Given the description of an element on the screen output the (x, y) to click on. 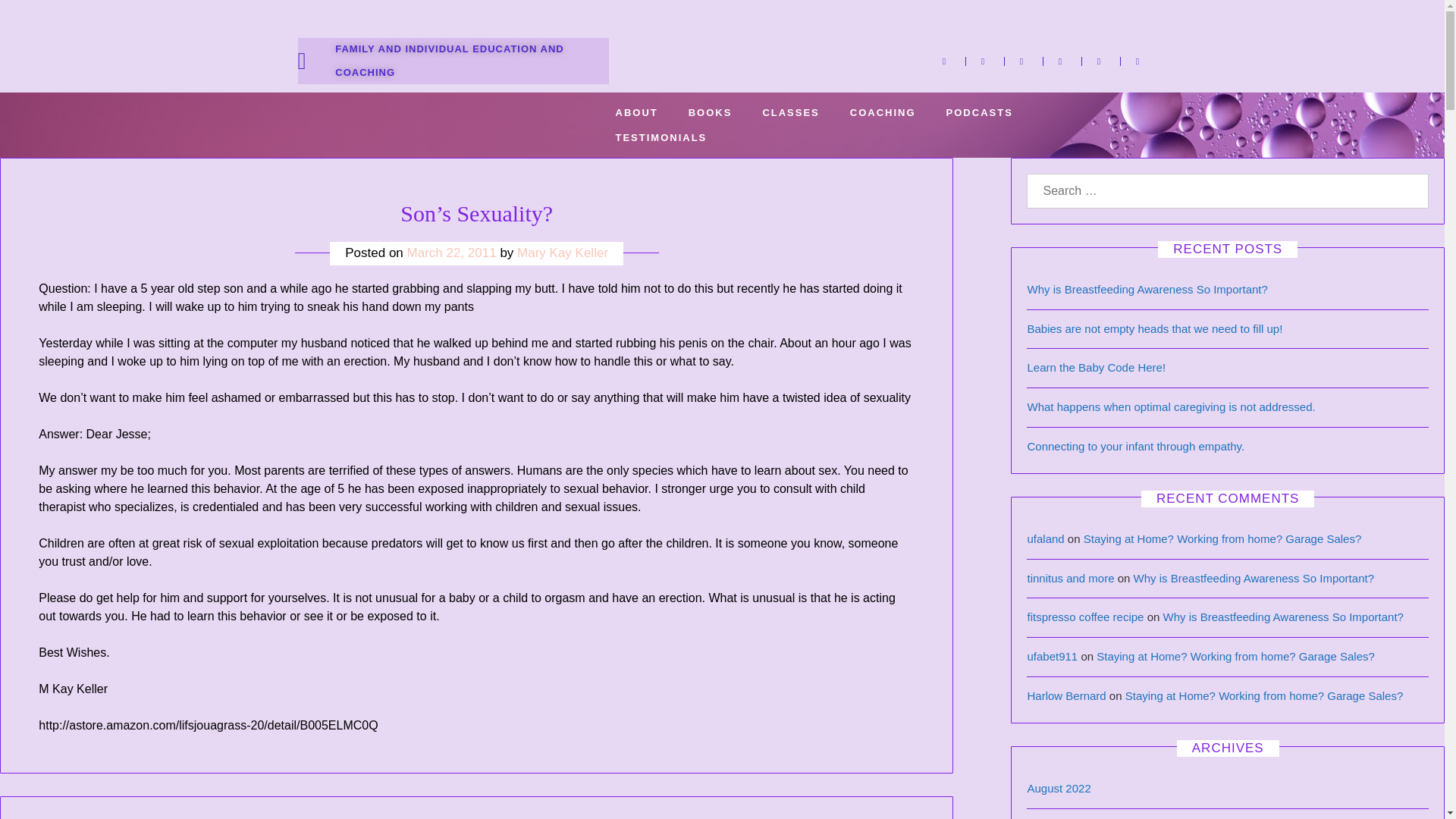
August 2022 (1058, 788)
What happens when optimal caregiving is not addressed. (1170, 406)
Harlow Bernard (1065, 695)
Babies are not empty heads that we need to fill up! (1154, 328)
tinnitus and more (1069, 577)
Staying at Home? Working from home? Garage Sales? (1235, 656)
Staying at Home? Working from home? Garage Sales? (1222, 538)
fitspresso coffee recipe (1084, 616)
CLASSES (790, 112)
Why is Breastfeeding Awareness So Important? (1146, 288)
